Given the description of an element on the screen output the (x, y) to click on. 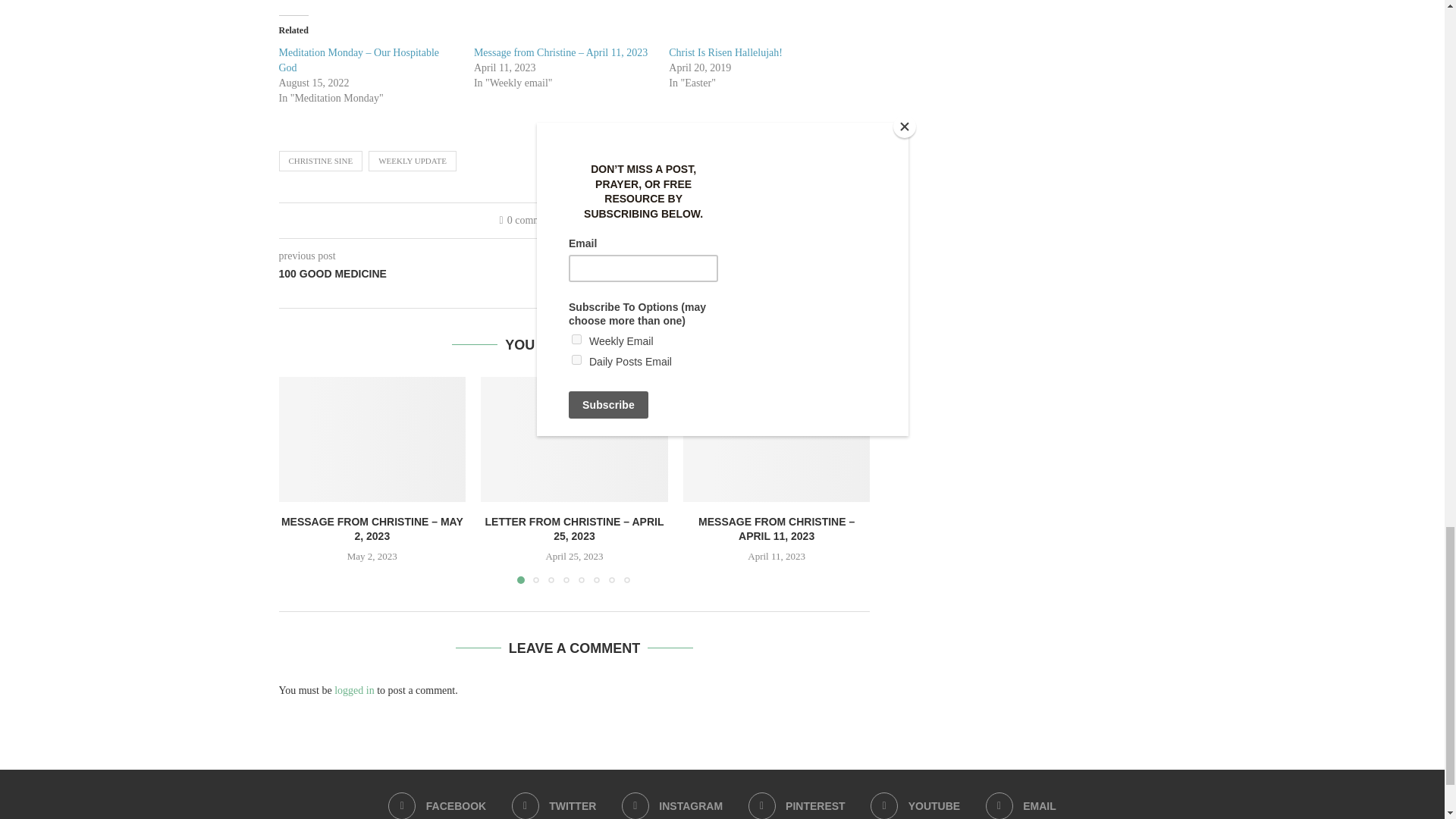
Like (597, 220)
Christ Is Risen Hallelujah! (725, 52)
